Given the description of an element on the screen output the (x, y) to click on. 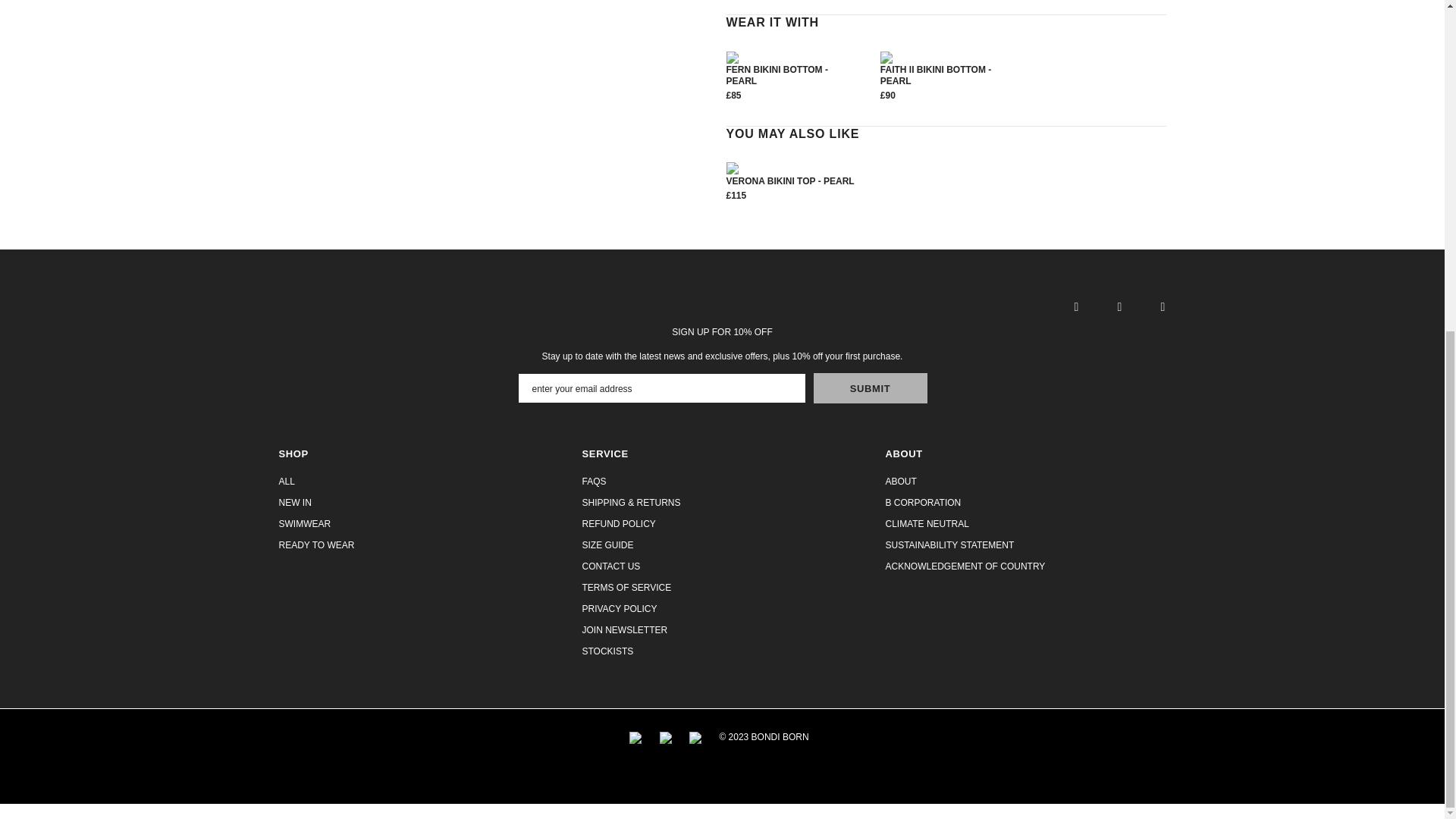
Submit (869, 388)
